Given the description of an element on the screen output the (x, y) to click on. 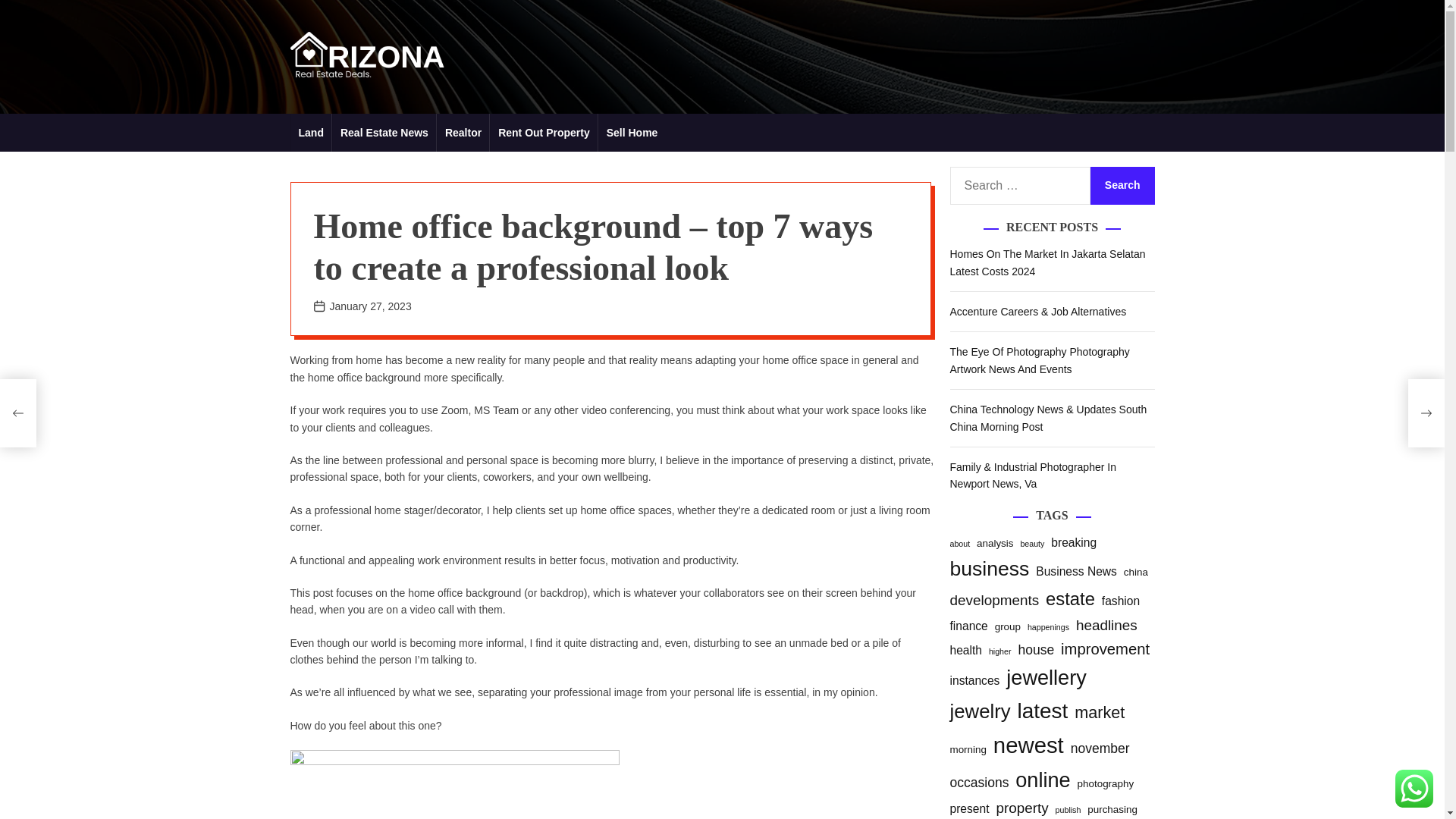
about (959, 543)
group (1007, 626)
estate (1069, 598)
Search (1122, 185)
business (989, 568)
headlines (1106, 625)
Real Estate News (383, 132)
Homes On The Market In Jakarta Selatan Latest Costs 2024 (1046, 262)
china (1136, 571)
Business News (1075, 571)
Search (1122, 185)
beauty (1031, 543)
health (965, 650)
The Eye Of Photography Photography Artwork News And Events (1039, 359)
Realtor (462, 132)
